Given the description of an element on the screen output the (x, y) to click on. 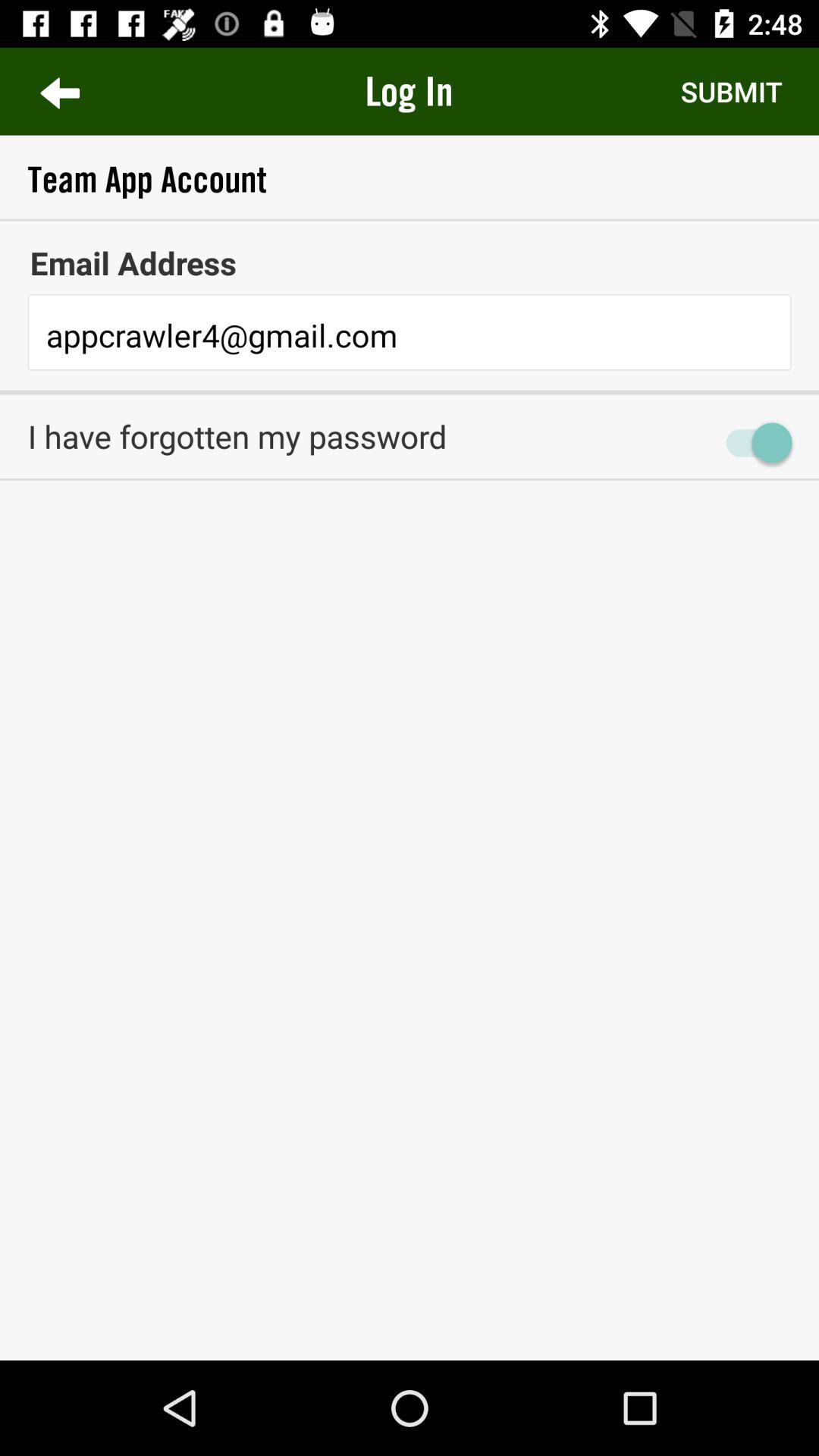
choose the item at the top left corner (59, 91)
